Given the description of an element on the screen output the (x, y) to click on. 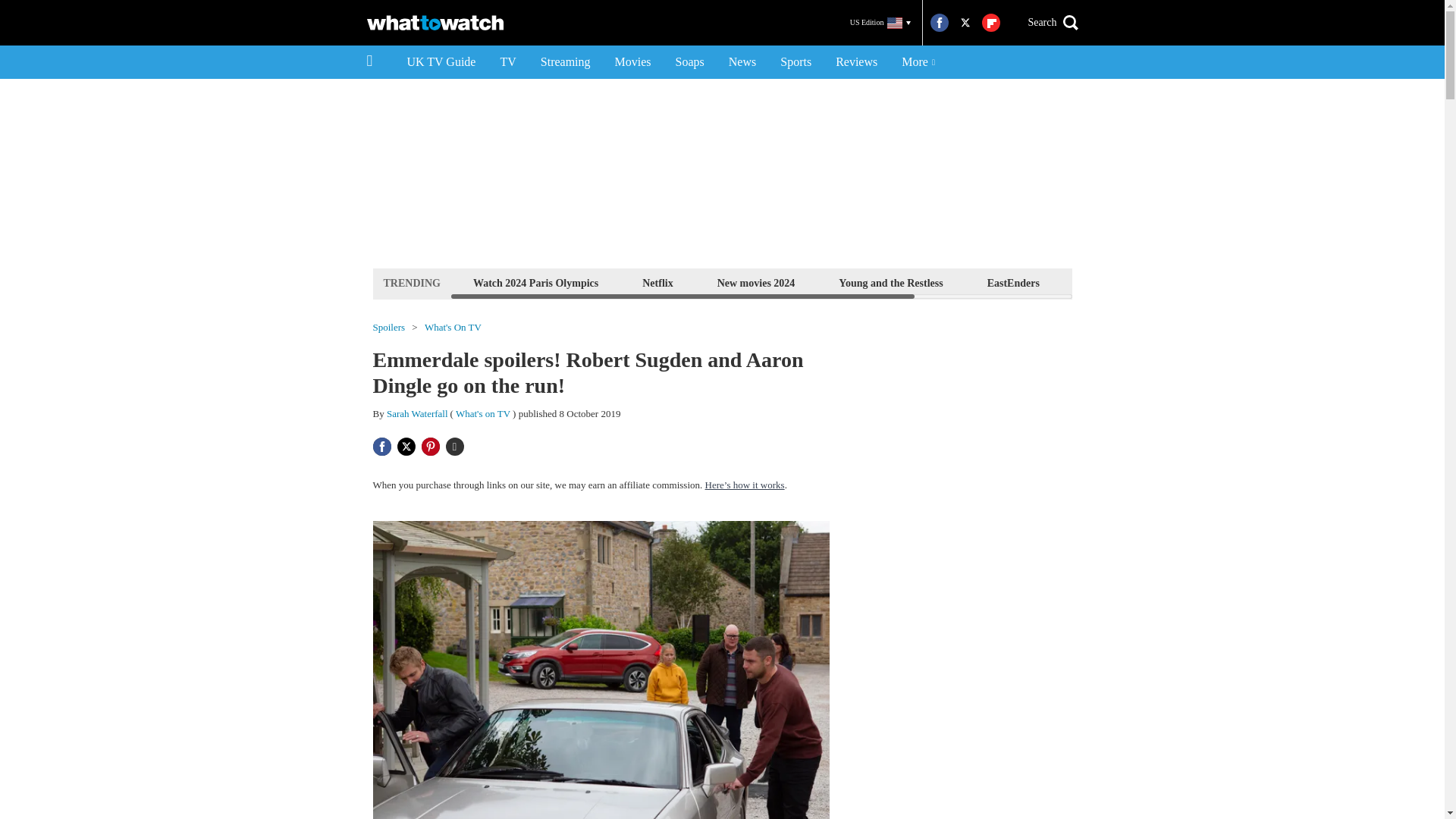
Young and the Restless (889, 282)
Watch 2024 Paris Olympics (535, 282)
Coronation Street (1220, 282)
Movies (632, 61)
US Edition (880, 22)
New movies 2024 (755, 282)
News (742, 61)
Soaps (689, 61)
What's On TV (453, 327)
Netflix (657, 282)
